Given the description of an element on the screen output the (x, y) to click on. 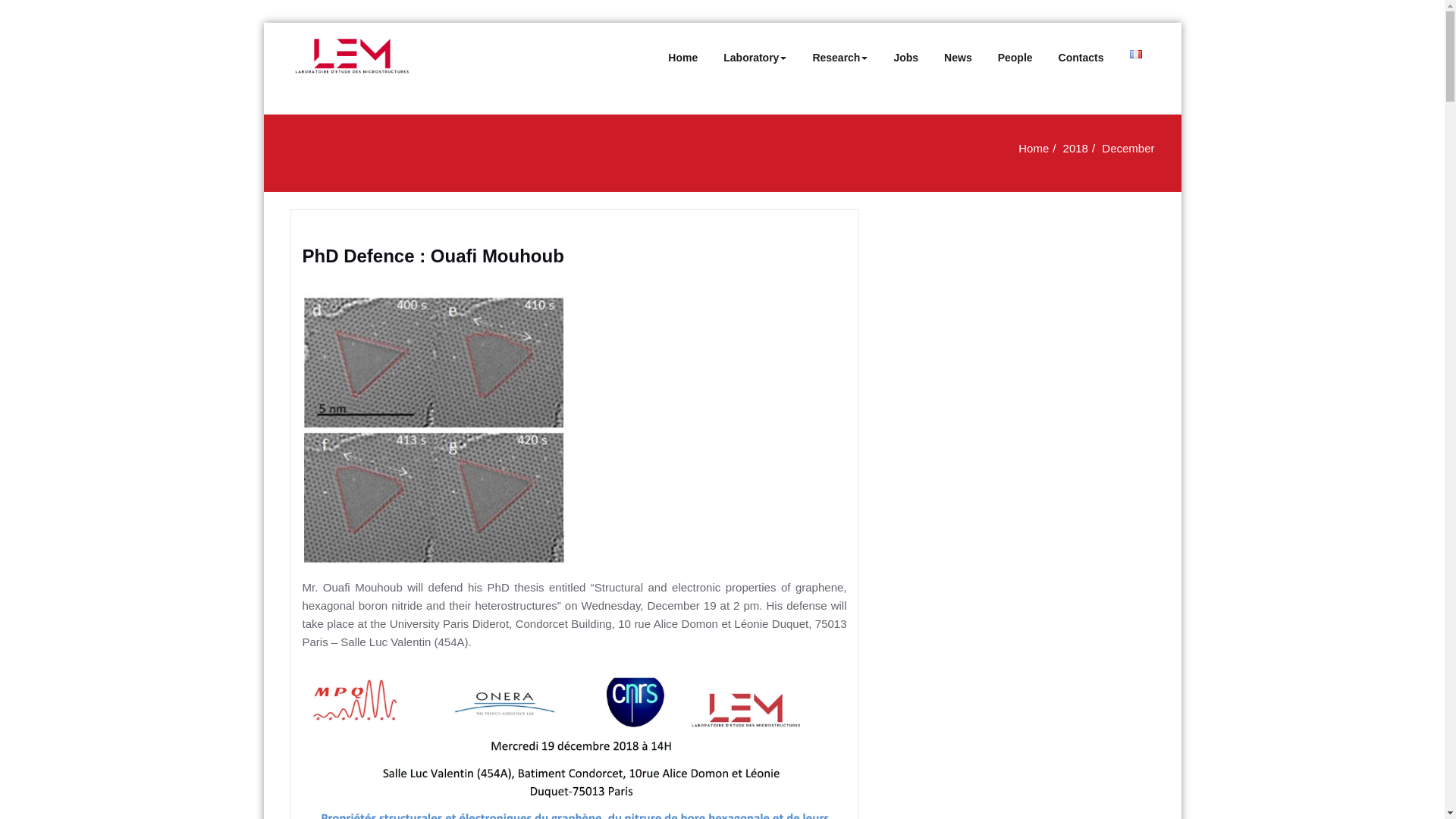
Research (839, 57)
PhD Defence : Ouafi Mouhoub (432, 255)
Laboratory (754, 57)
